Given the description of an element on the screen output the (x, y) to click on. 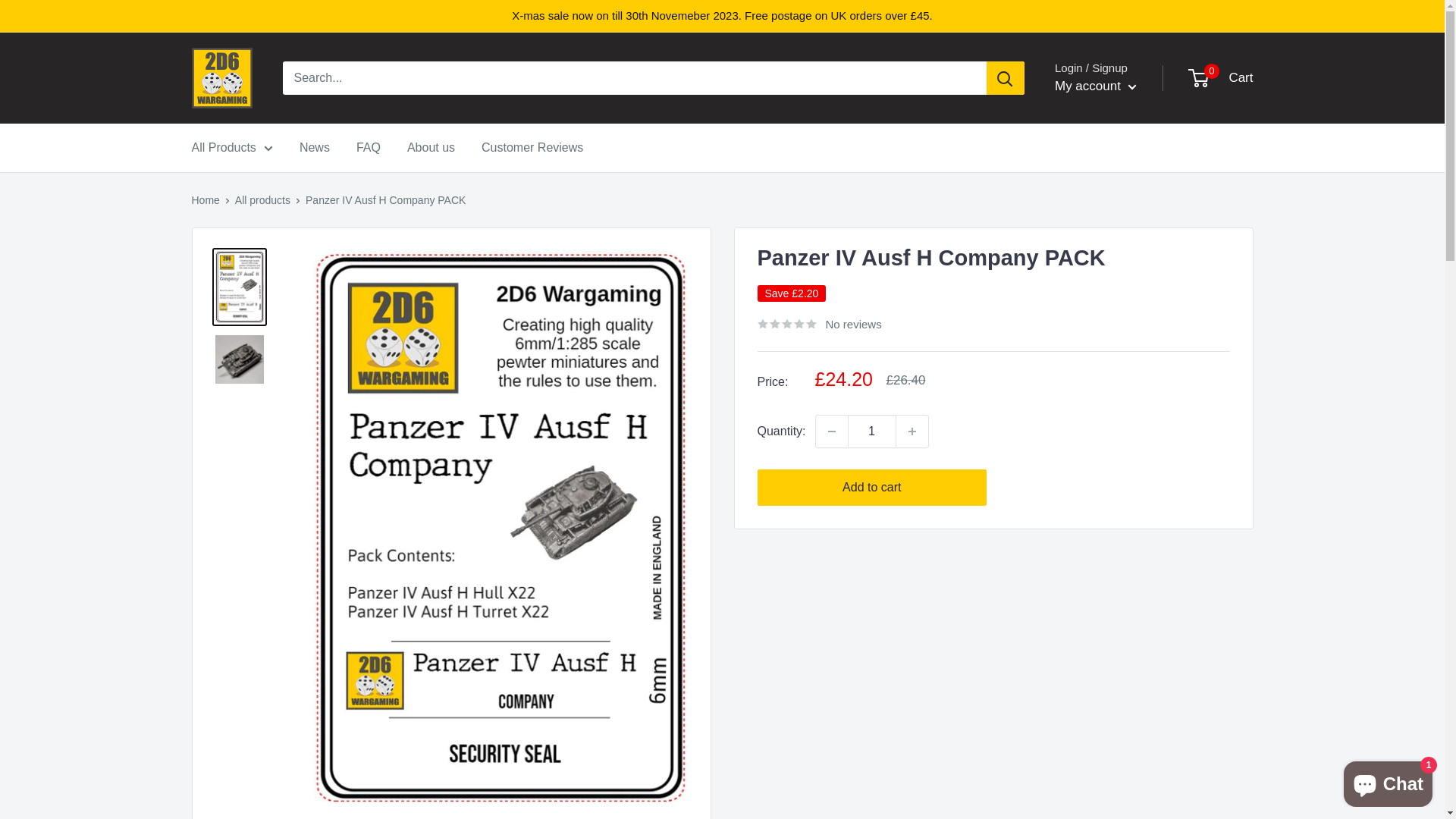
Shopify online store chat Element type: hover (1388, 780)
2D6 Wargaming Element type: text (221, 77)
News Element type: text (314, 147)
Customer Reviews Element type: text (532, 147)
Increase quantity by 1 Element type: hover (912, 431)
Add to cart Element type: text (871, 487)
About us Element type: text (431, 147)
All Products Element type: text (231, 147)
FAQ Element type: text (368, 147)
Decrease quantity by 1 Element type: hover (831, 431)
No reviews Element type: text (818, 323)
Home Element type: text (205, 200)
My account Element type: text (1095, 86)
0
Cart Element type: text (1221, 77)
All products Element type: text (262, 200)
